Given the description of an element on the screen output the (x, y) to click on. 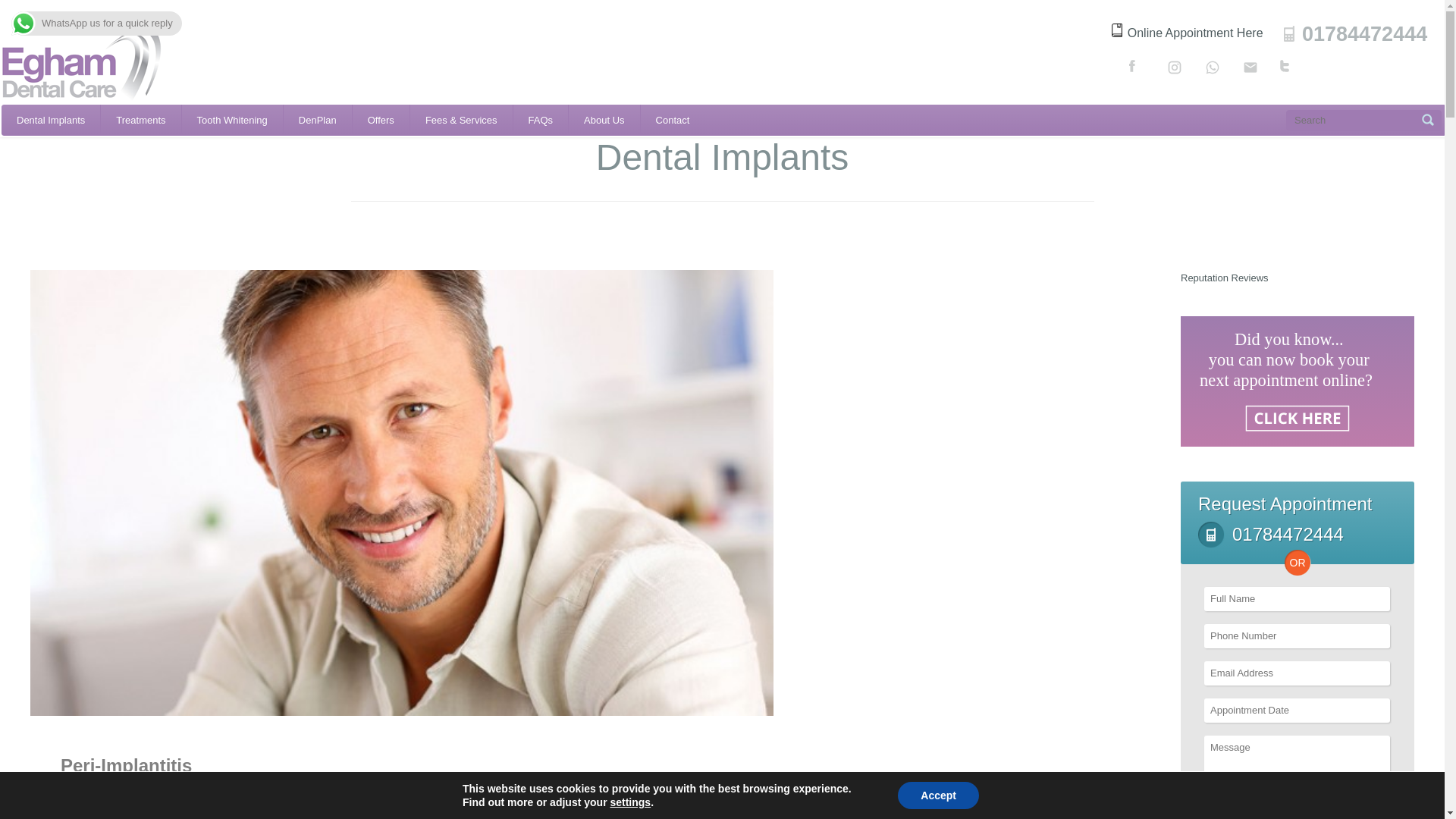
Contact (672, 119)
Online Appointment Here (1187, 32)
About Us (604, 119)
Dental Implants (50, 119)
FAQs (541, 119)
Treatments (140, 119)
DenPlan (317, 119)
Offers (380, 119)
Tooth Whitening (232, 119)
